Given the description of an element on the screen output the (x, y) to click on. 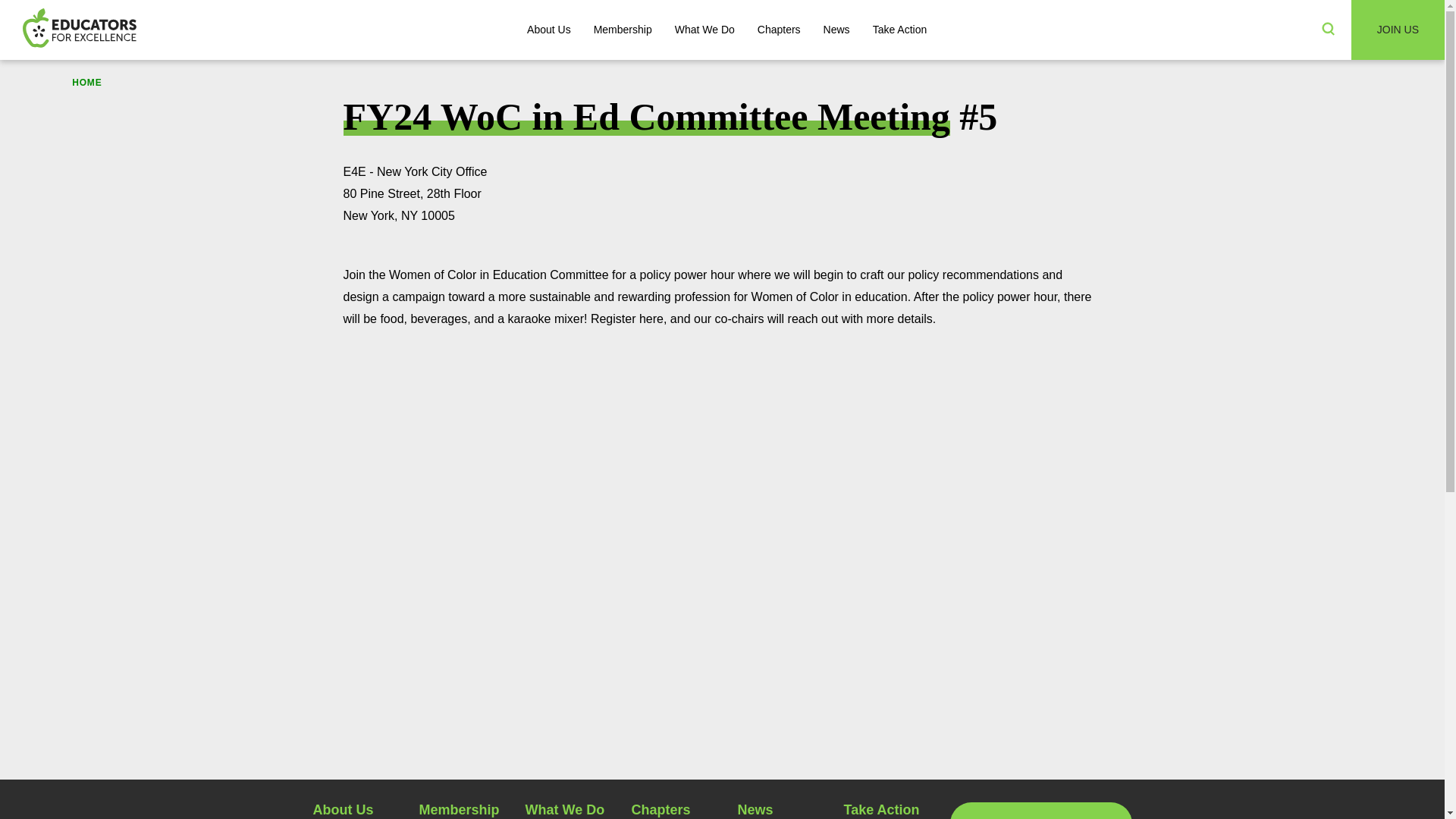
Chapters (778, 29)
What We Do (705, 29)
Educators for Excellence (79, 29)
Membership (623, 29)
About Us (548, 29)
